Given the description of an element on the screen output the (x, y) to click on. 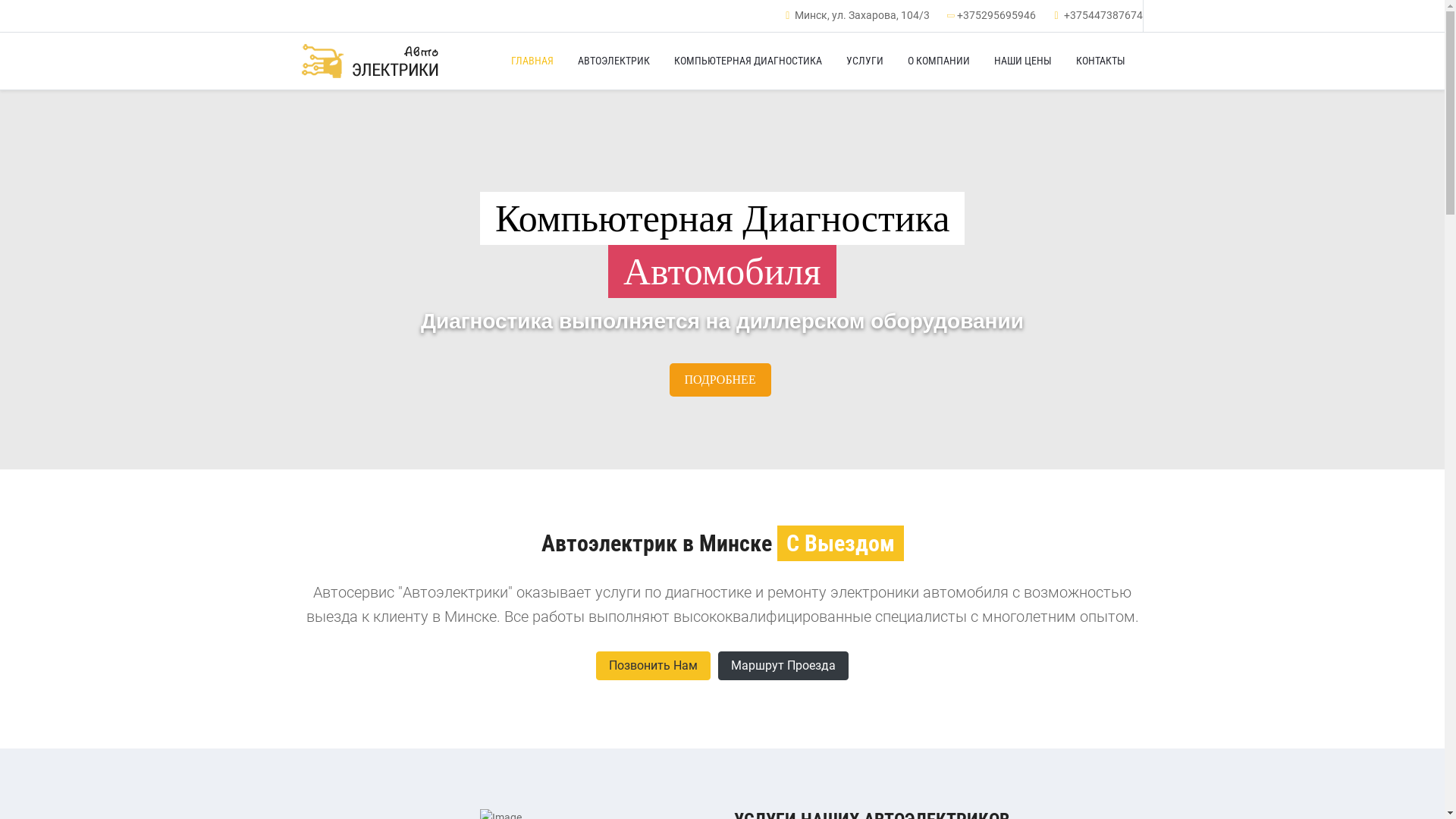
+375447387674 Element type: text (1102, 15)
+375295695946 Element type: text (996, 15)
